Given the description of an element on the screen output the (x, y) to click on. 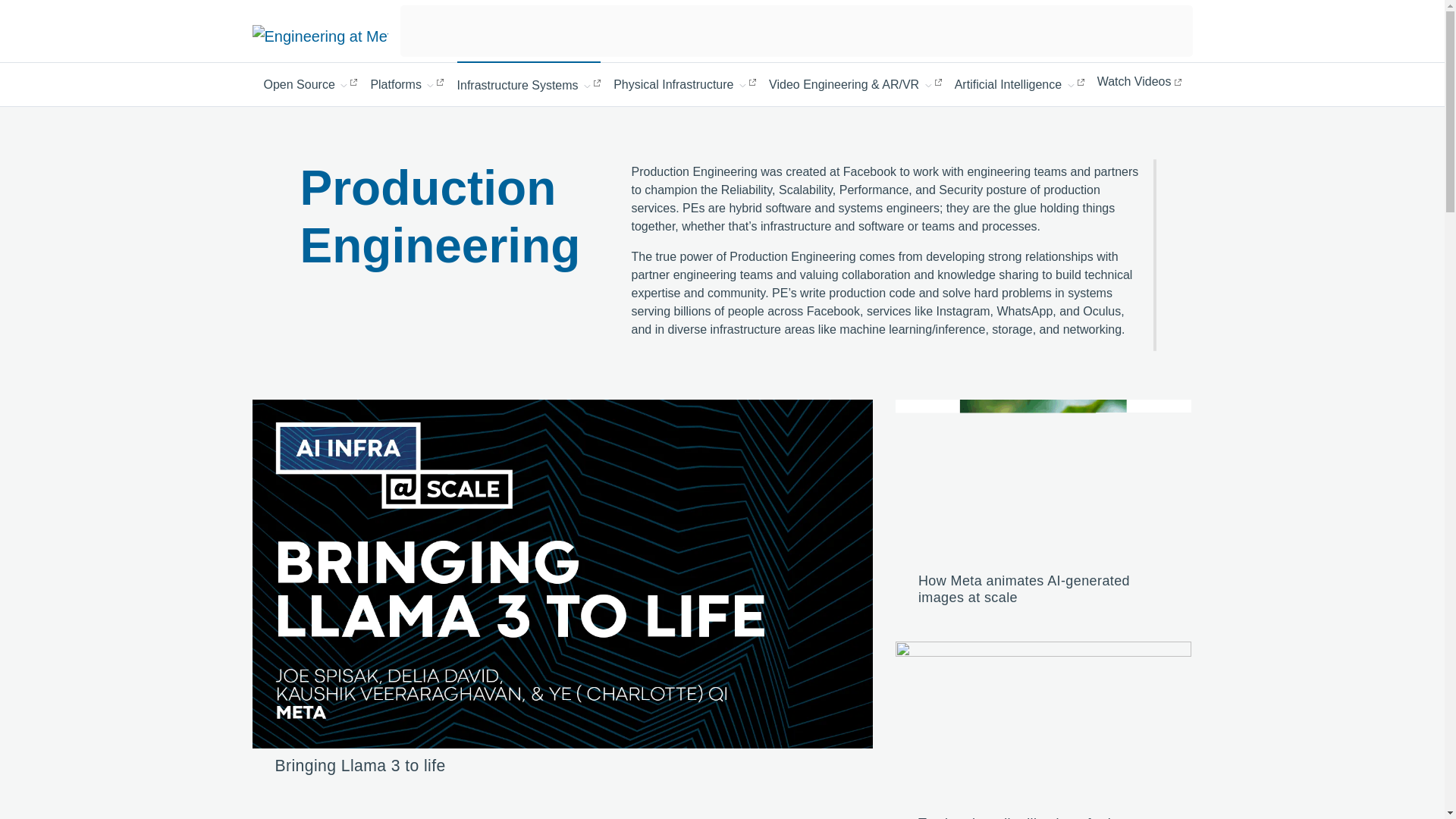
Watch Videos (1138, 81)
Open Source (310, 83)
Engineering at Meta (319, 35)
Artificial Intelligence (1019, 83)
Infrastructure Systems (529, 83)
How Meta animates AI-generated images at scale (1023, 589)
Open Source (310, 83)
Physical Infrastructure (683, 83)
Platforms (406, 83)
Bringing Llama 3 to life (360, 764)
